Given the description of an element on the screen output the (x, y) to click on. 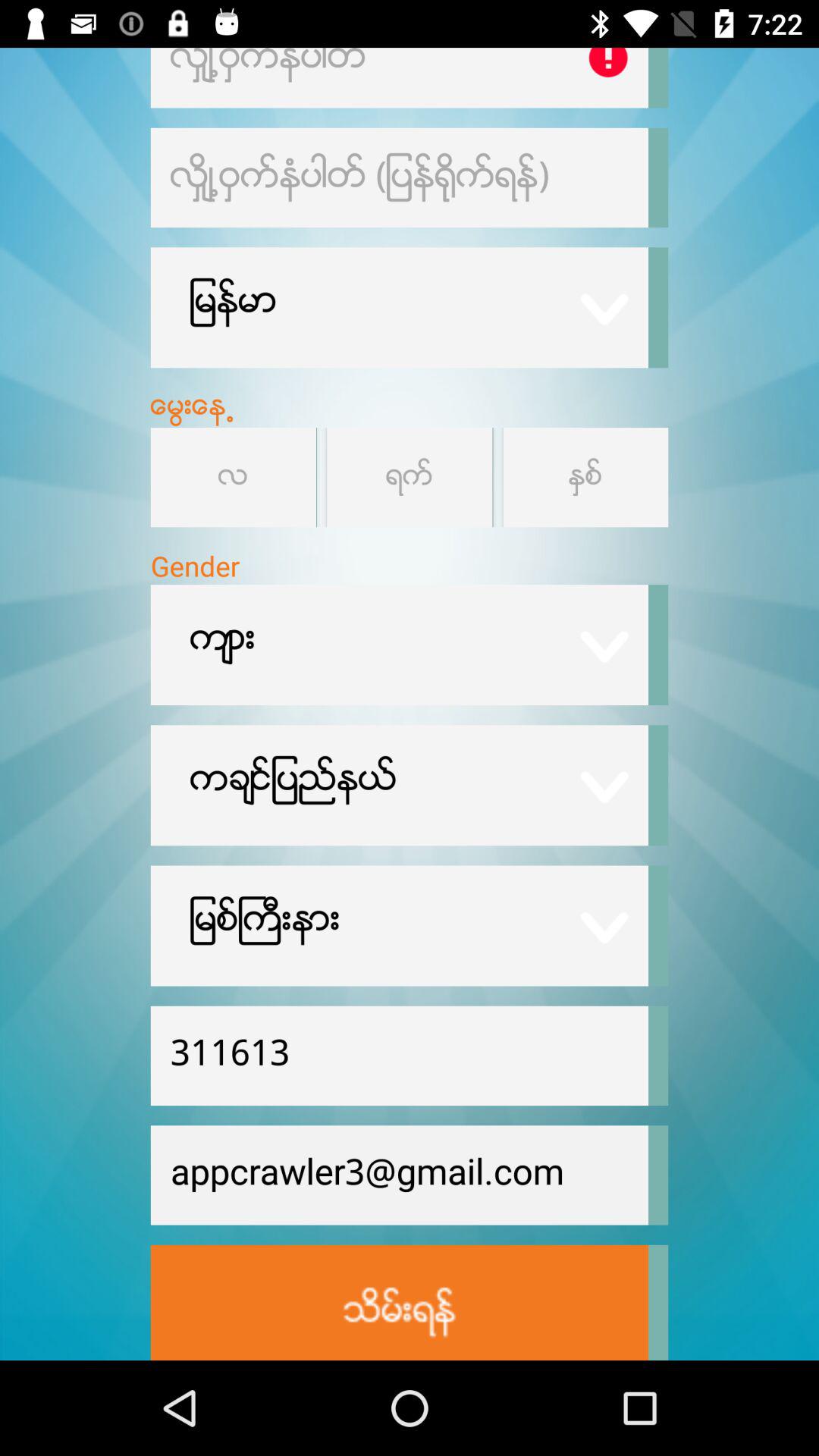
enter (399, 1302)
